Given the description of an element on the screen output the (x, y) to click on. 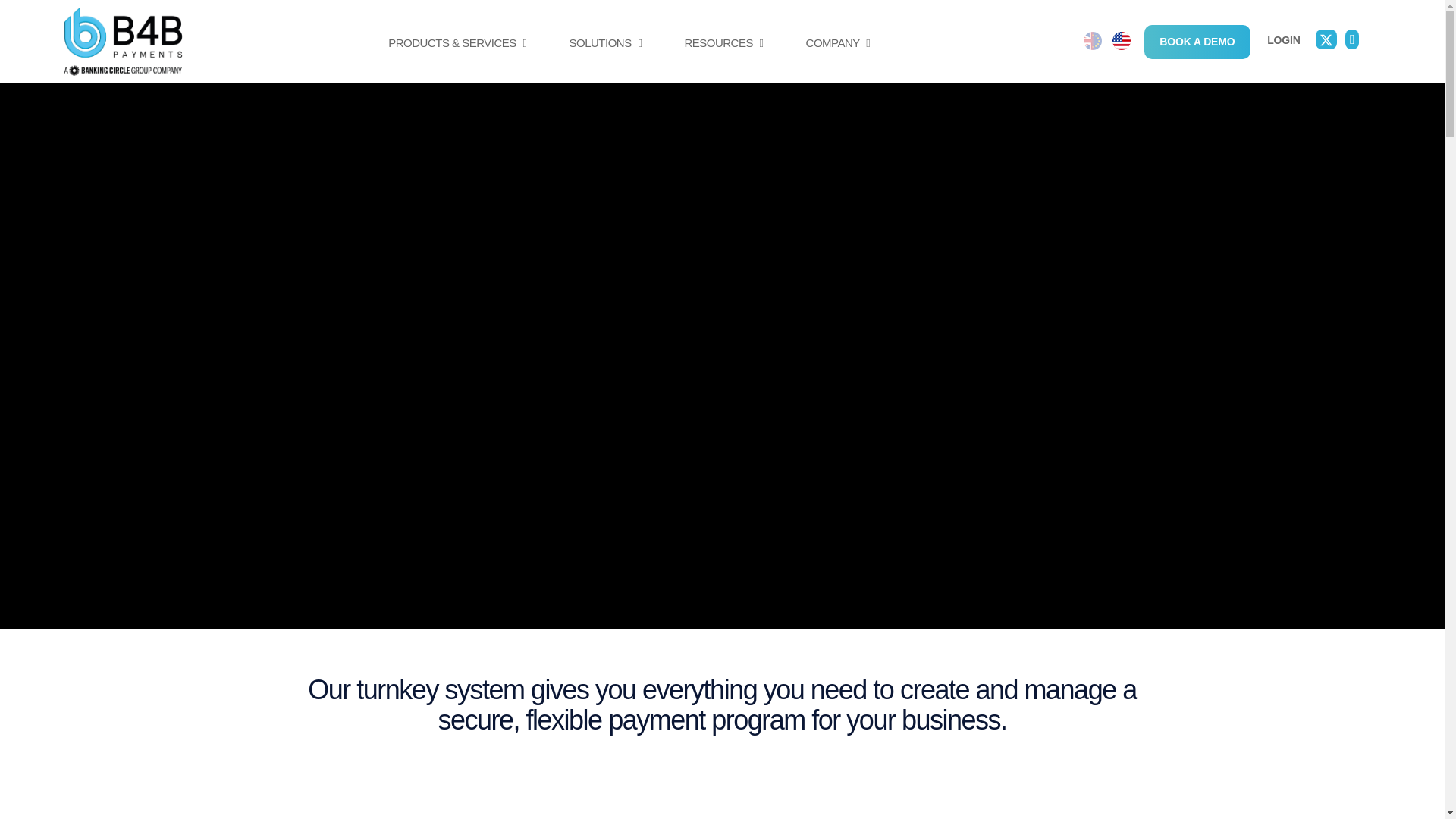
LOGIN (1283, 39)
BOOK A DEMO (1196, 41)
RESOURCES (723, 59)
COMPANY (837, 59)
SOLUTIONS (604, 59)
